Given the description of an element on the screen output the (x, y) to click on. 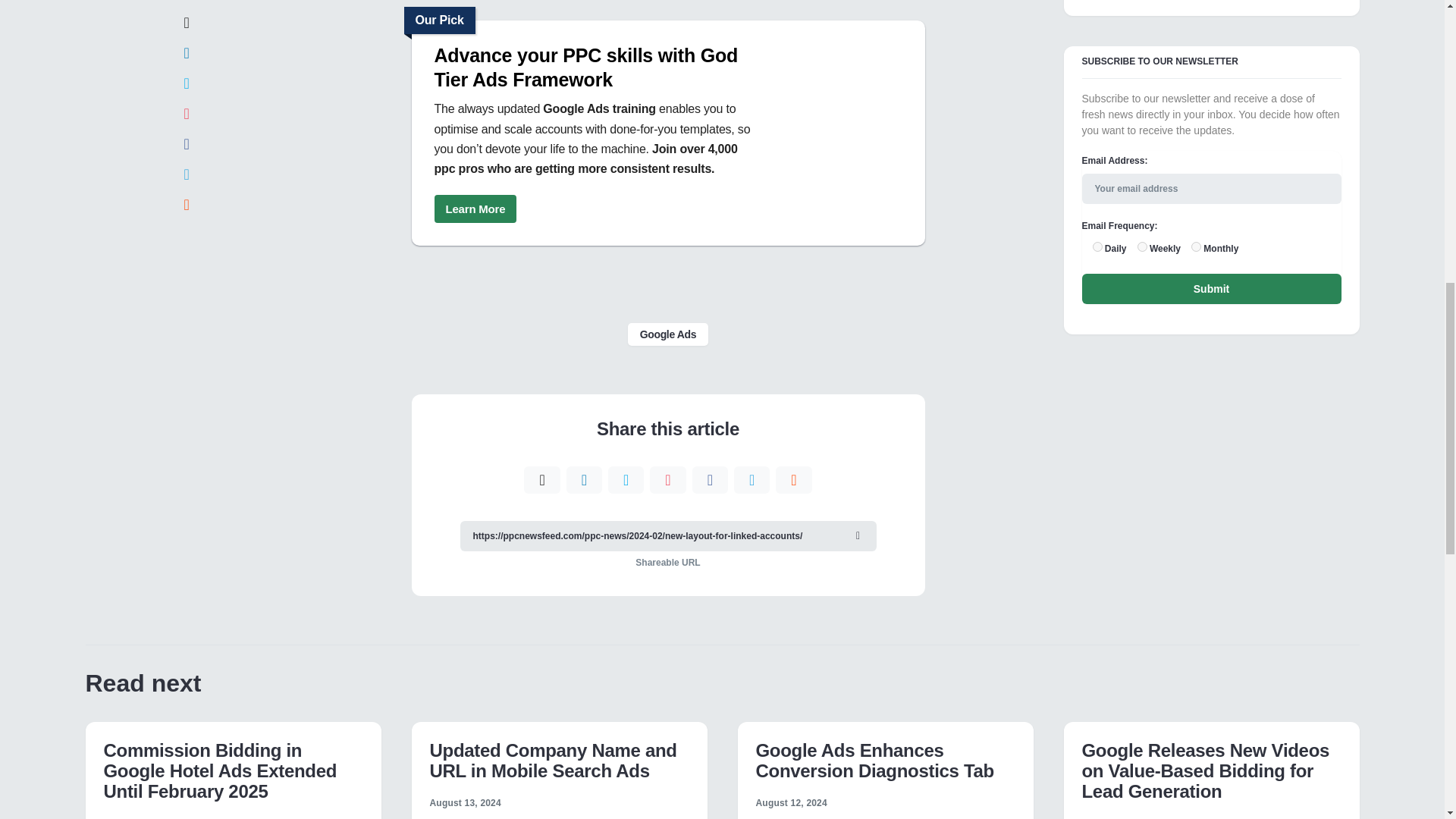
Weekly (1142, 246)
Daily (1097, 246)
Advance your PPC skills with God Tier Ads Framework (474, 208)
Advance your PPC skills with God Tier Ads Framework (595, 67)
Monthly (1196, 246)
Submit (1210, 288)
